Given the description of an element on the screen output the (x, y) to click on. 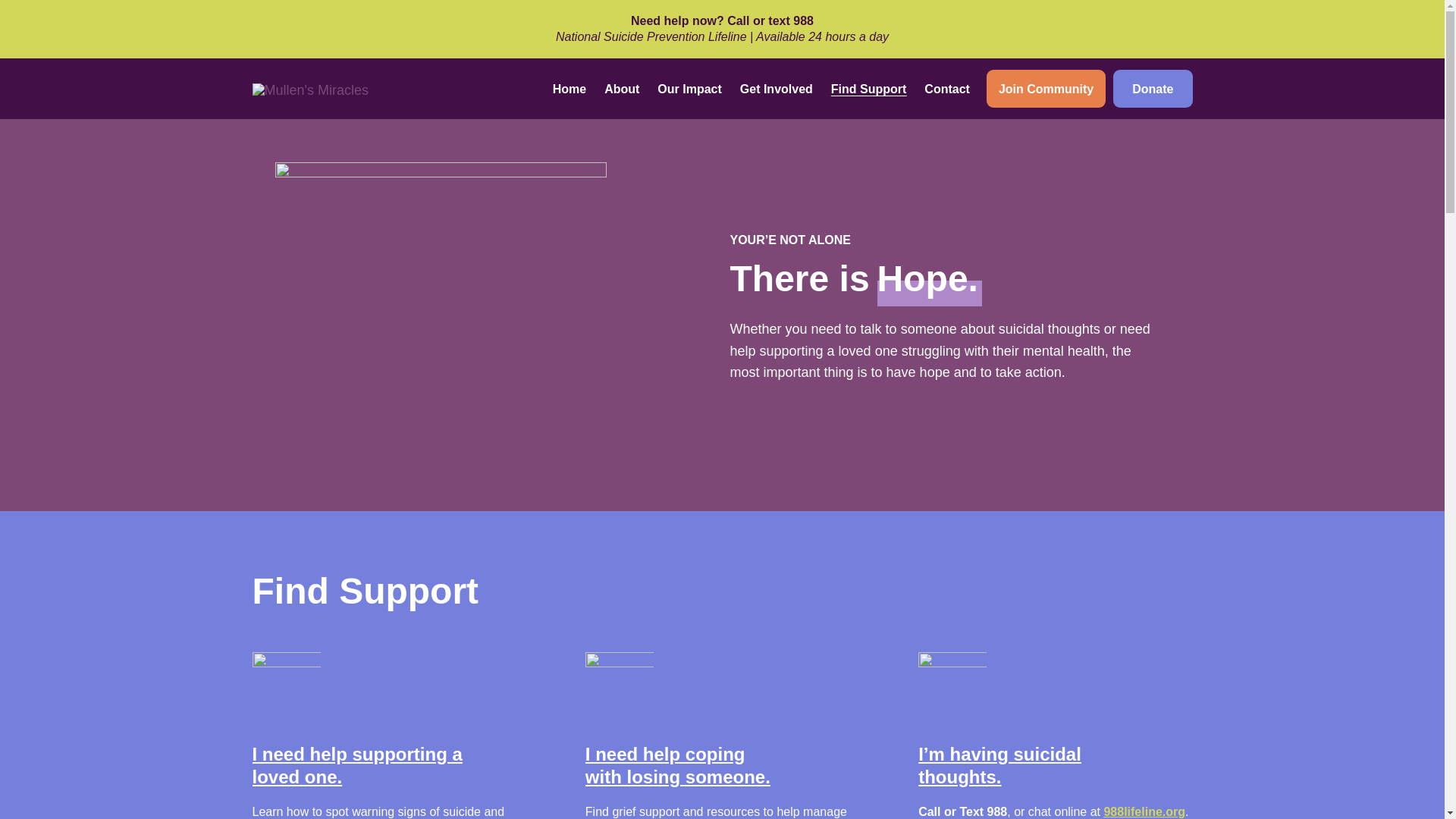
Get Involved (776, 89)
About (621, 89)
Donate (1152, 88)
Our Impact (688, 89)
Contact (946, 89)
Join Community (1046, 88)
Home (569, 89)
Find Support (868, 89)
